Given the description of an element on the screen output the (x, y) to click on. 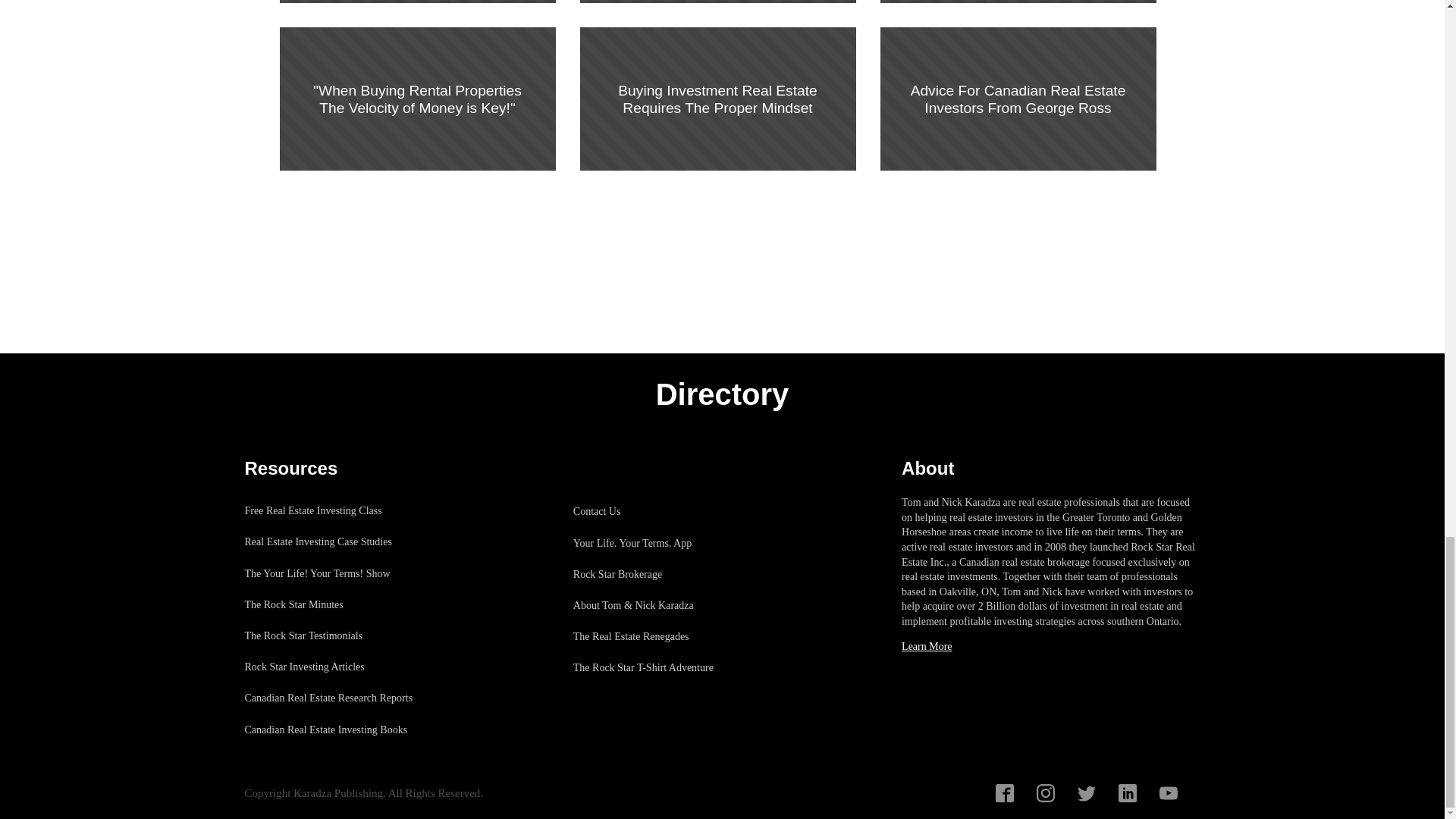
Free Real Estate Investing Class (336, 510)
Rock Star Investing Articles (336, 666)
The Real Estate Renegades (651, 635)
Buying Investment Real Estate Requires The Proper Mindset (717, 98)
The Rock Star T-Shirt Adventure (651, 667)
The Rock Star Testimonials (336, 635)
Contact Us (651, 511)
Your Life. Your Terms. App (651, 542)
Rock Star Brokerage (651, 573)
